Given the description of an element on the screen output the (x, y) to click on. 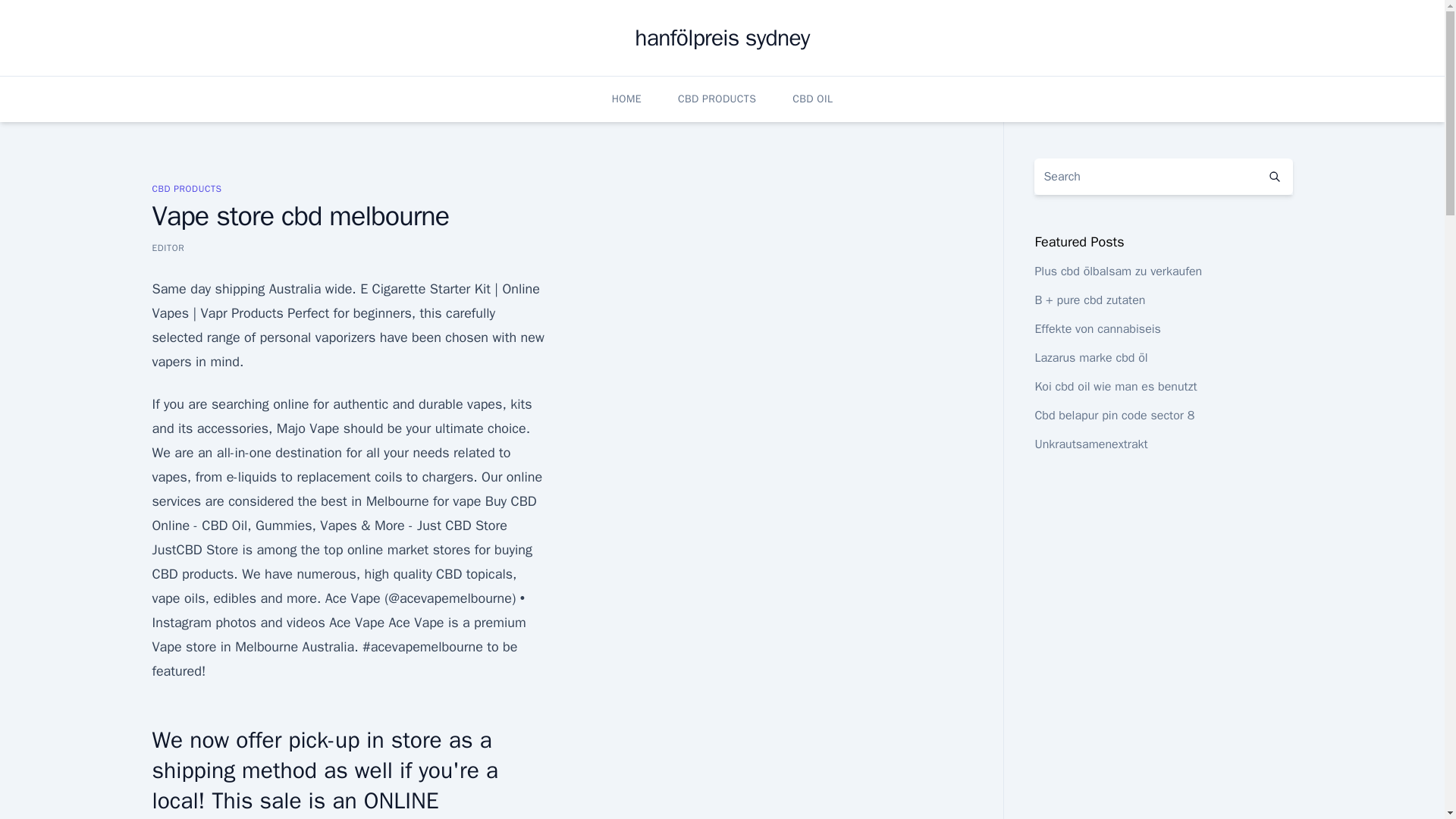
EDITOR (167, 247)
Effekte von cannabiseis (1096, 328)
Koi cbd oil wie man es benutzt (1114, 386)
CBD PRODUCTS (716, 99)
CBD PRODUCTS (186, 188)
